Given the description of an element on the screen output the (x, y) to click on. 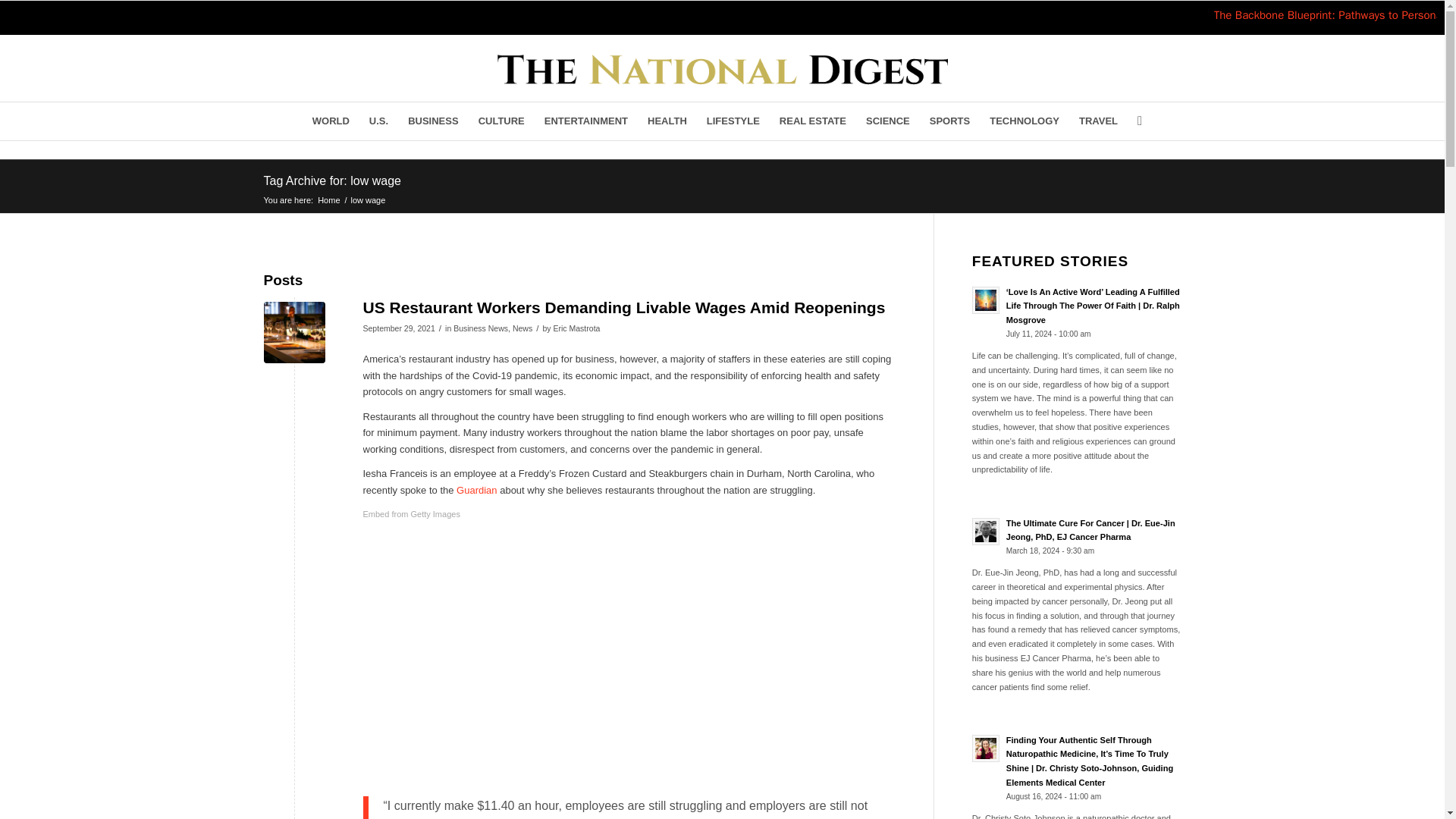
Tag Archive for: low wage (332, 180)
Home (328, 199)
Eric Mastrota (576, 327)
Permanent Link: Tag Archive for: low wage (332, 180)
Guardian (478, 490)
HEALTH (667, 121)
U.S. (378, 121)
SPORTS (949, 121)
SCIENCE (888, 121)
